Given the description of an element on the screen output the (x, y) to click on. 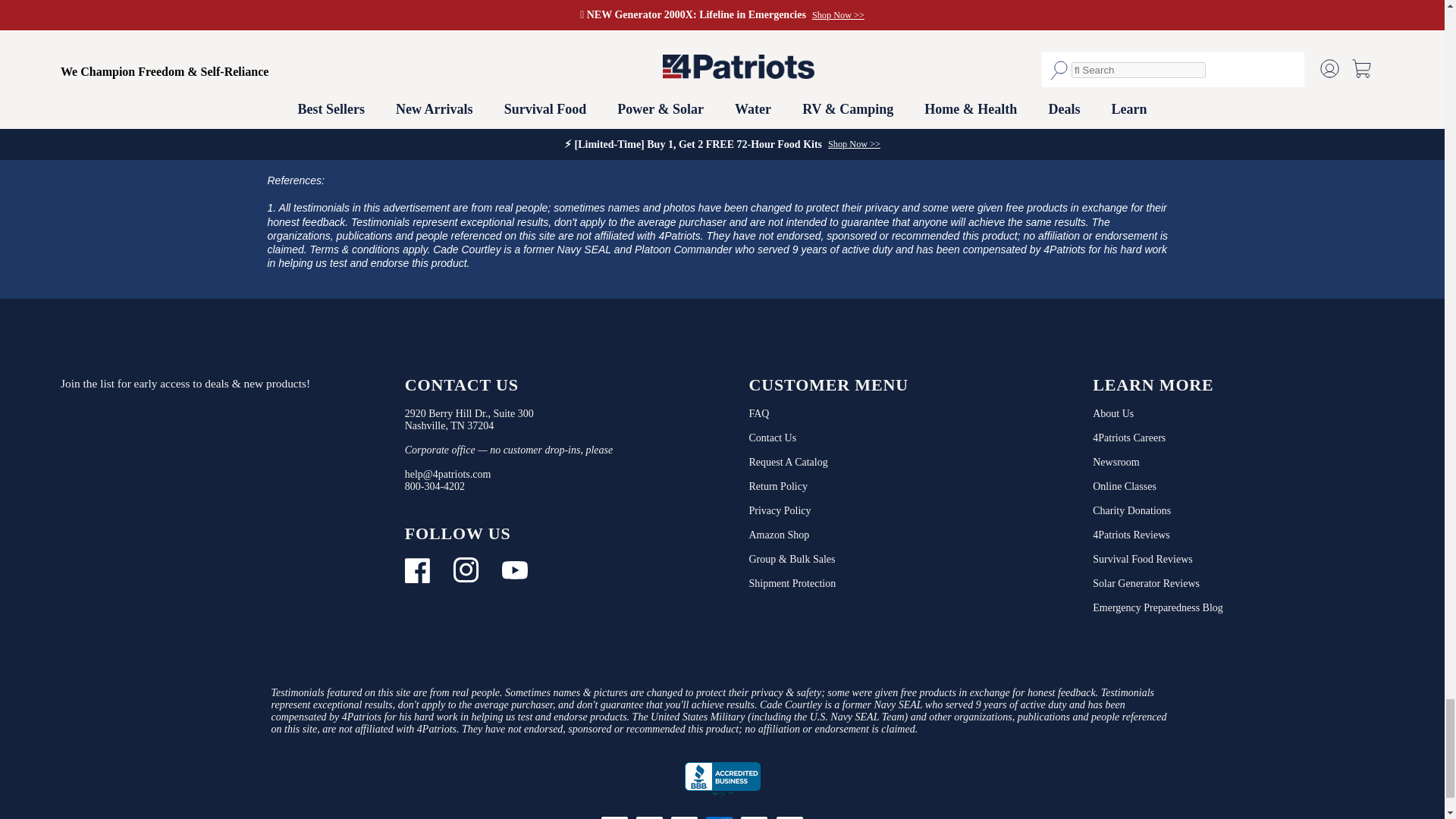
4Patriots, LLC., Online Retailer, Nashville, TN (722, 779)
4Patriots customer support (434, 486)
Shop Pay (826, 816)
